Given the description of an element on the screen output the (x, y) to click on. 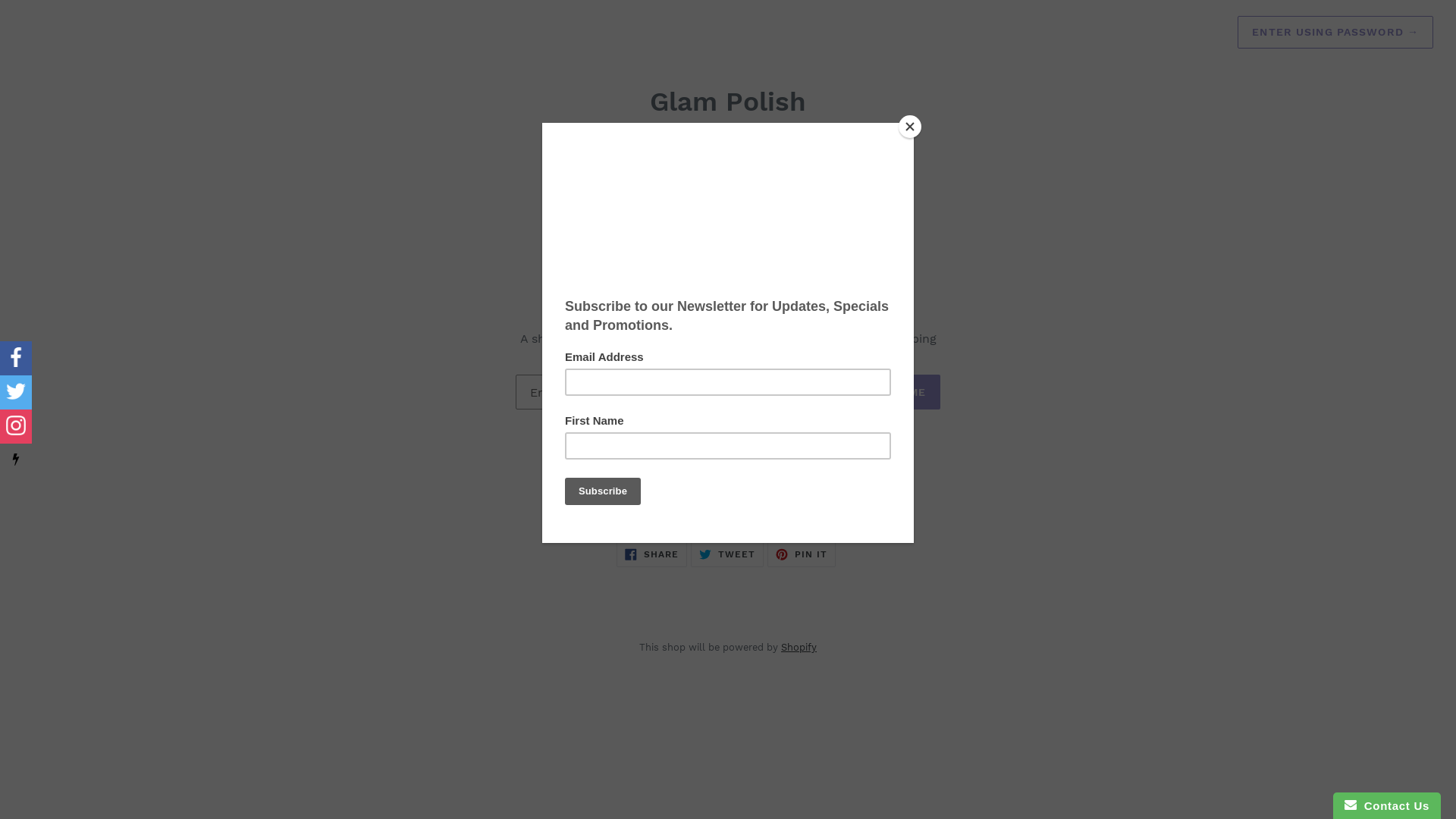
Follow on Twitter Element type: hover (15, 392)
PIN IT
PIN ON PINTEREST Element type: text (801, 554)
NOTIFY ME Element type: text (893, 391)
TWEET
TWEET ON TWITTER Element type: text (726, 554)
Powered By Improved Contact Form Element type: hover (15, 460)
Follow on Facebook Element type: hover (15, 358)
Shopify Element type: text (798, 646)
Follow on Instagram Element type: hover (15, 426)
SHARE
SHARE ON FACEBOOK Element type: text (651, 554)
